Given the description of an element on the screen output the (x, y) to click on. 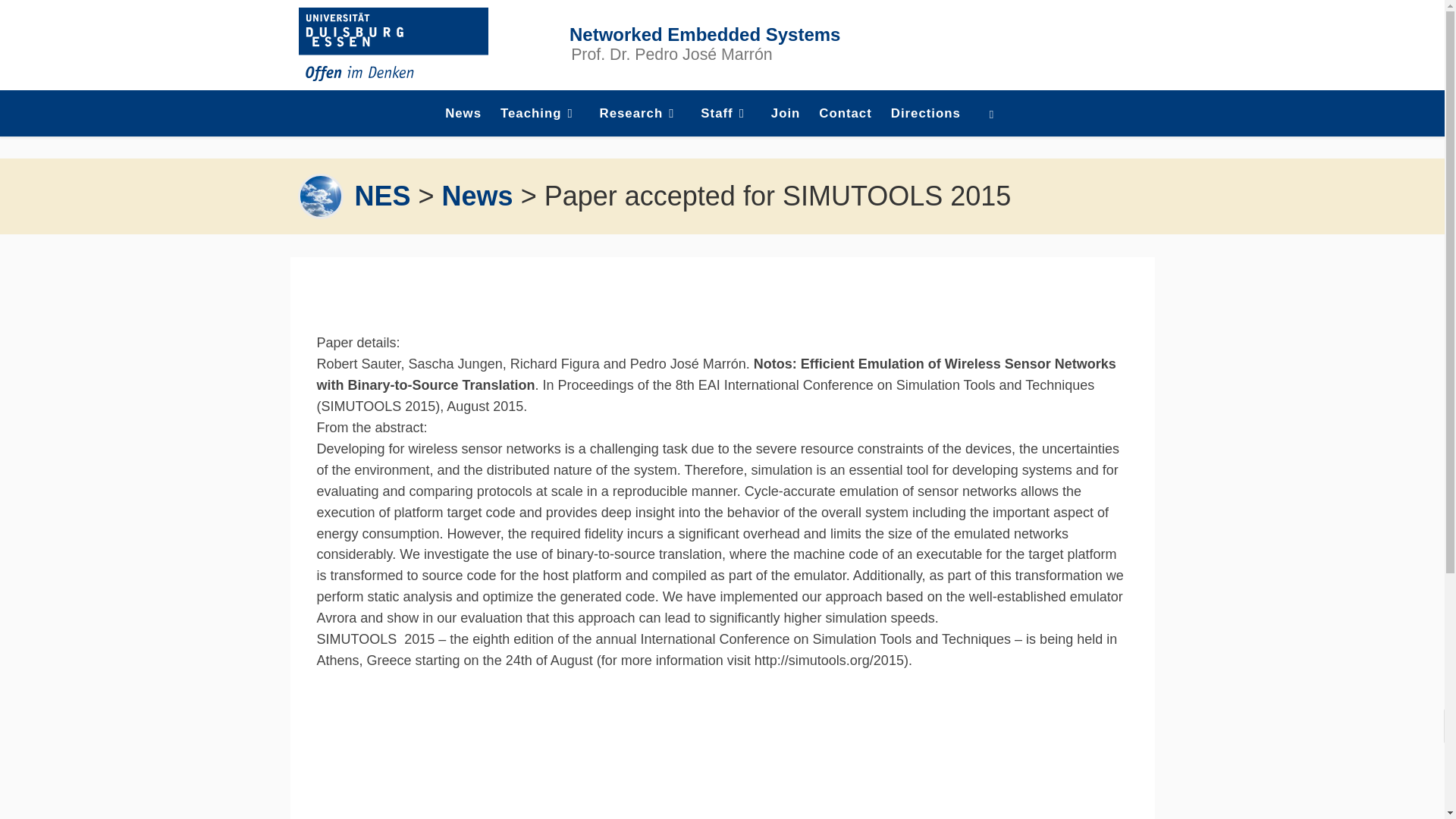
Teaching (540, 113)
Contact (844, 113)
Research (639, 113)
Skip to content (60, 20)
Networked Embedded Systems (704, 34)
Join (786, 113)
Directions (926, 113)
Networked Embedded Systems (382, 195)
Staff (726, 113)
News (463, 113)
